Given the description of an element on the screen output the (x, y) to click on. 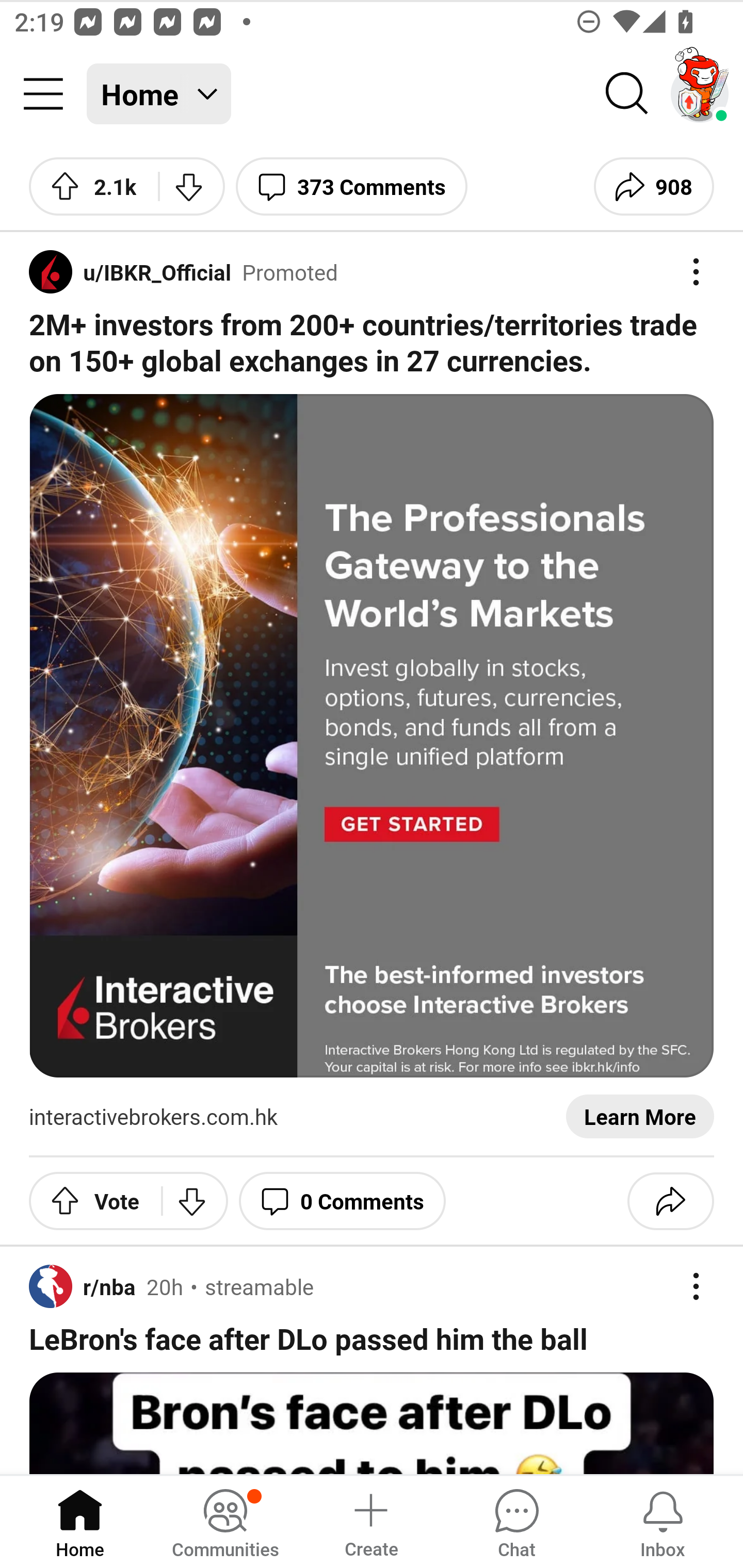
Community menu (43, 93)
Home Home feed (158, 93)
Search (626, 93)
TestAppium002 account (699, 93)
Home (80, 1520)
Communities, has notifications Communities (225, 1520)
Create a post Create (370, 1520)
Chat (516, 1520)
Inbox (662, 1520)
